Given the description of an element on the screen output the (x, y) to click on. 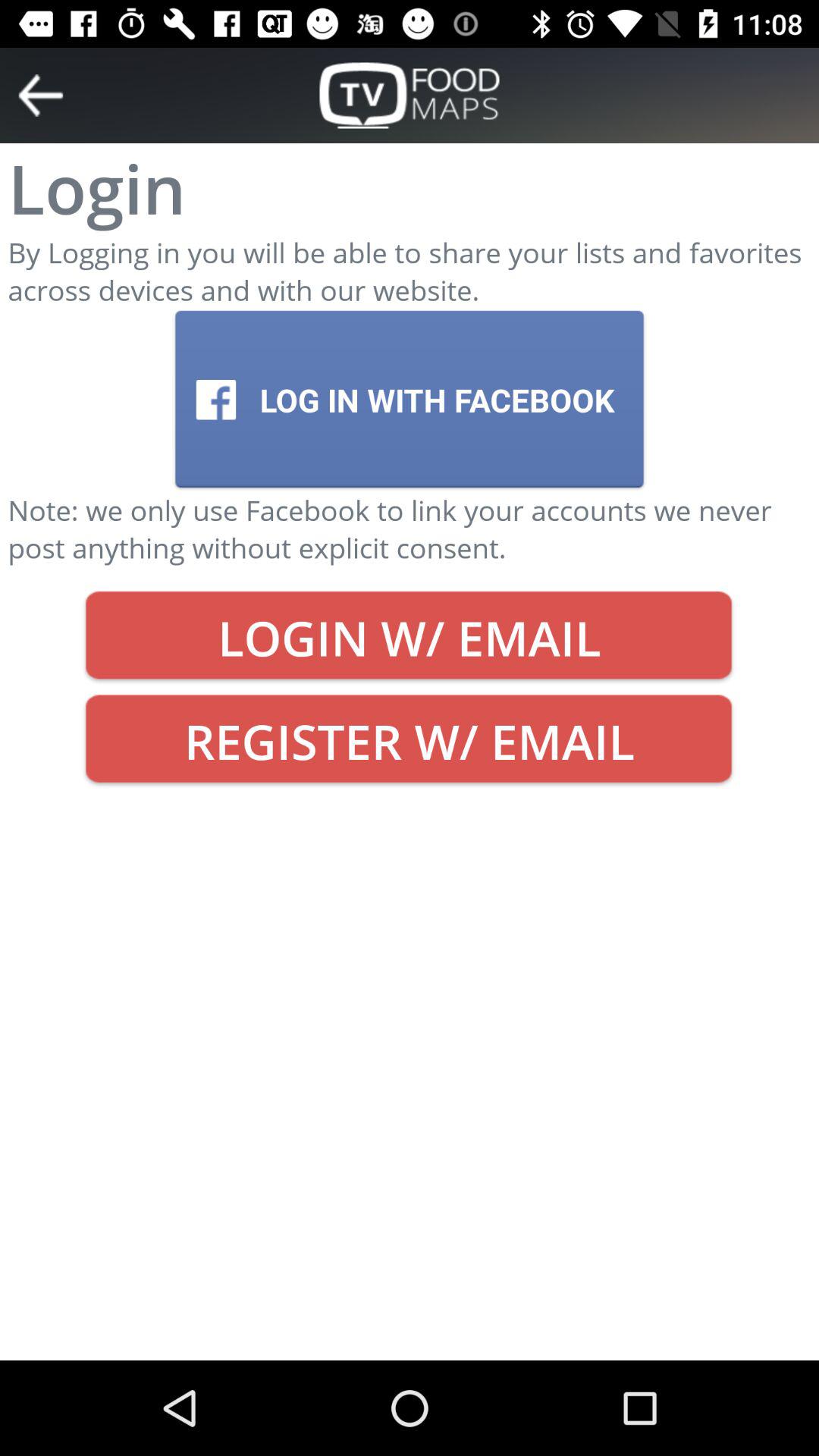
go back (41, 95)
